Given the description of an element on the screen output the (x, y) to click on. 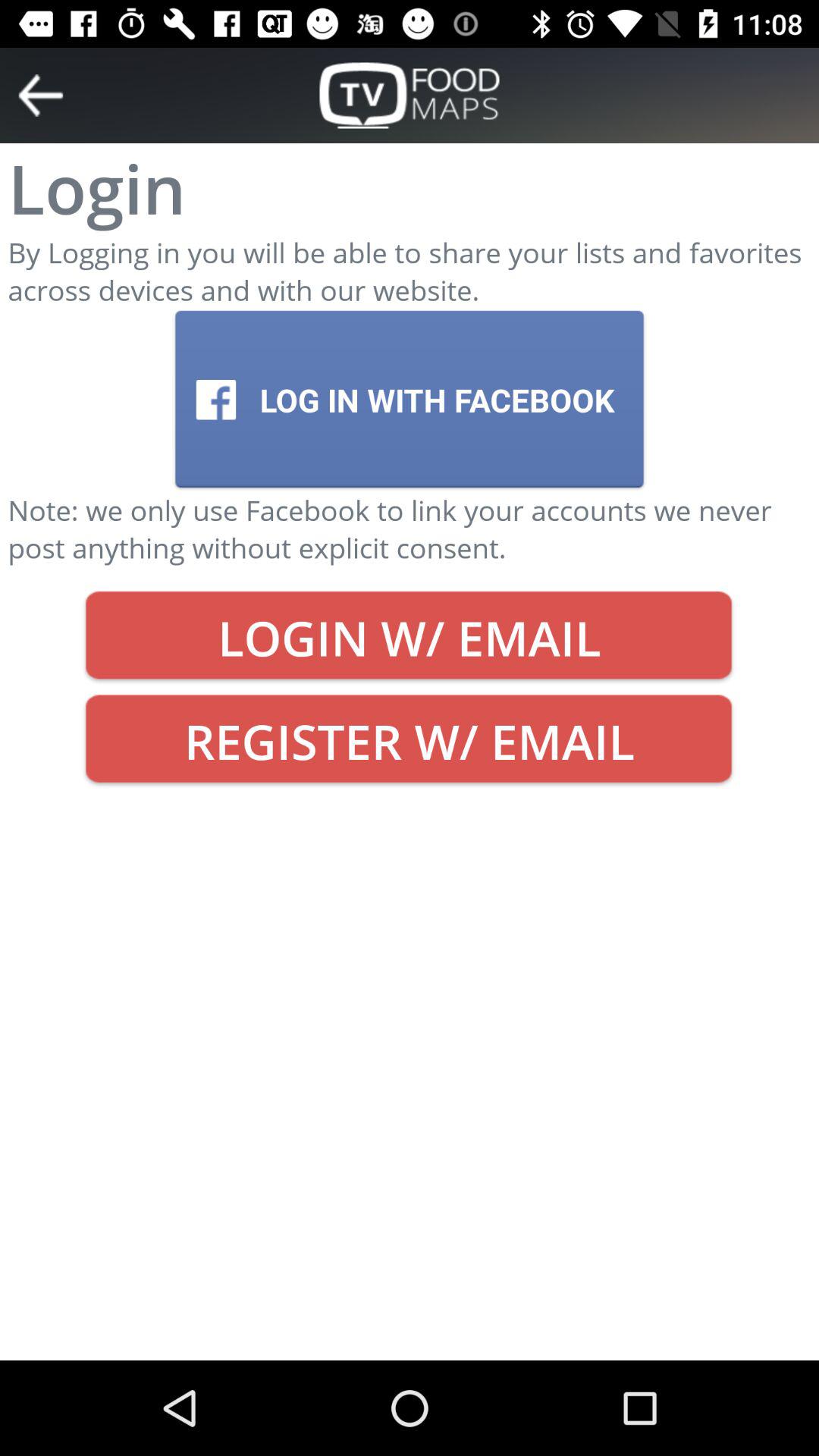
go back (41, 95)
